Given the description of an element on the screen output the (x, y) to click on. 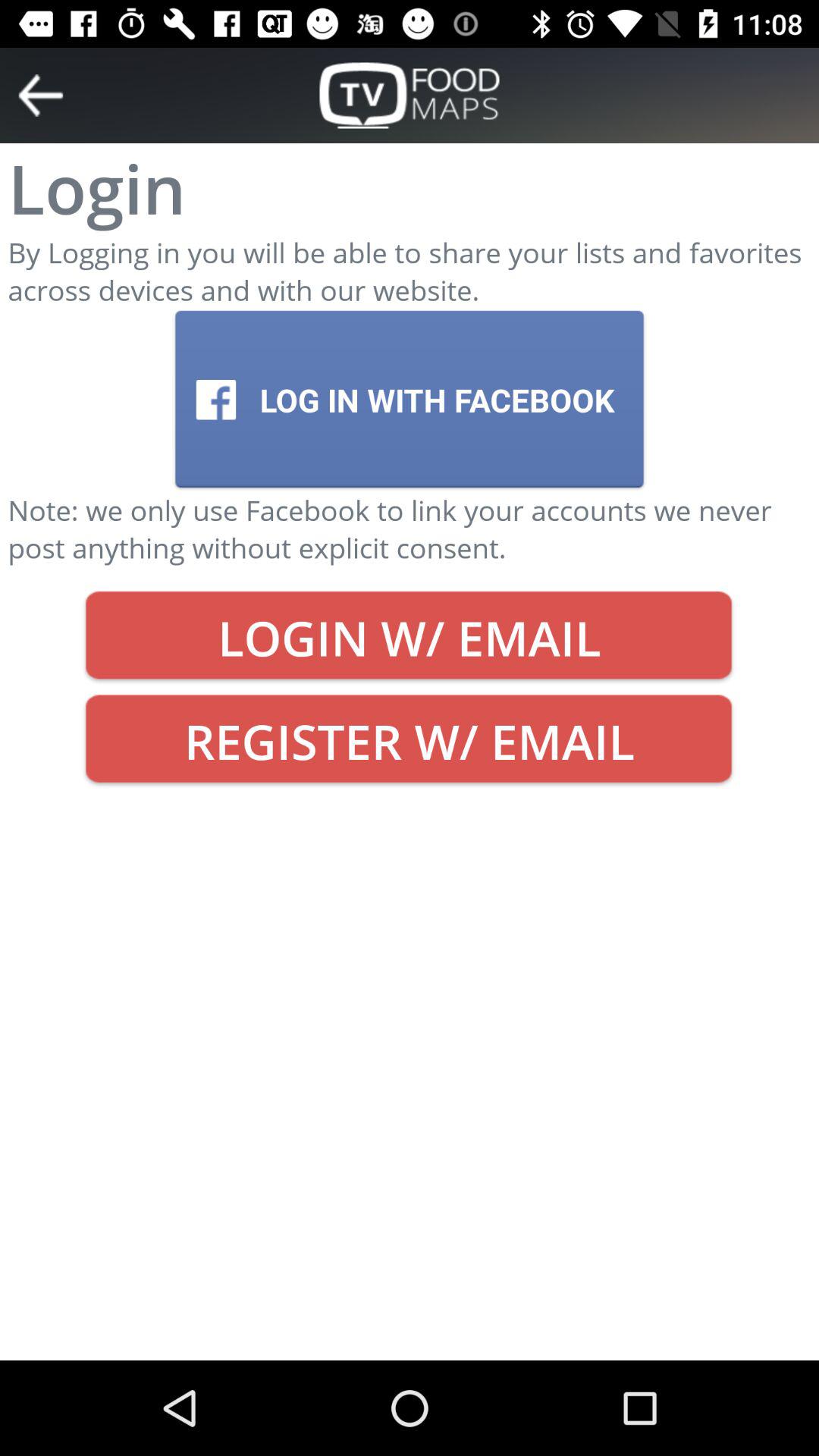
go back (41, 95)
